Given the description of an element on the screen output the (x, y) to click on. 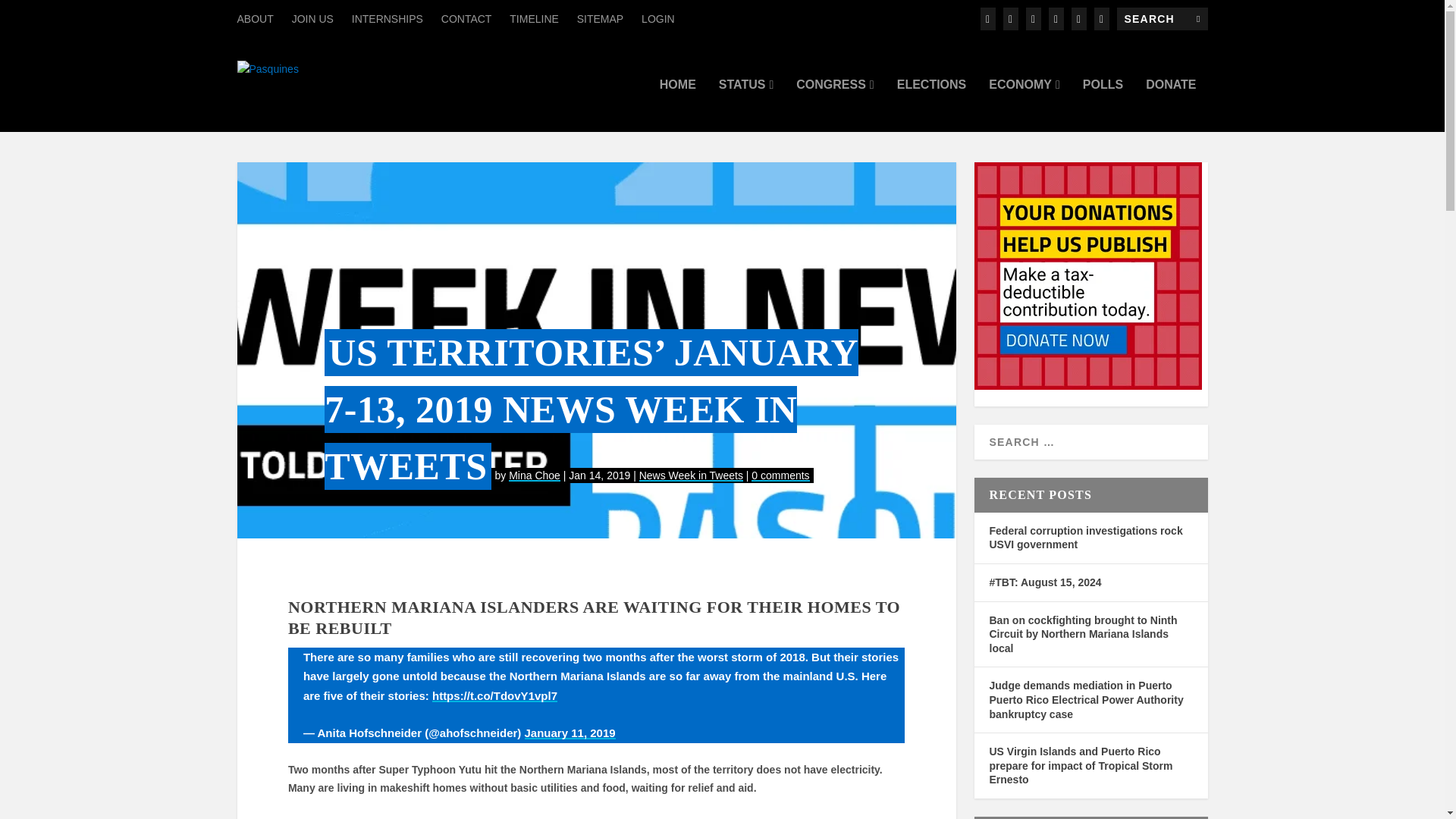
SITEMAP (599, 18)
INTERNSHIPS (387, 18)
ABOUT (254, 18)
Search for: (1161, 18)
JOIN US (312, 18)
CONGRESS (834, 104)
TIMELINE (534, 18)
CONTACT (466, 18)
STATUS (746, 104)
